Given the description of an element on the screen output the (x, y) to click on. 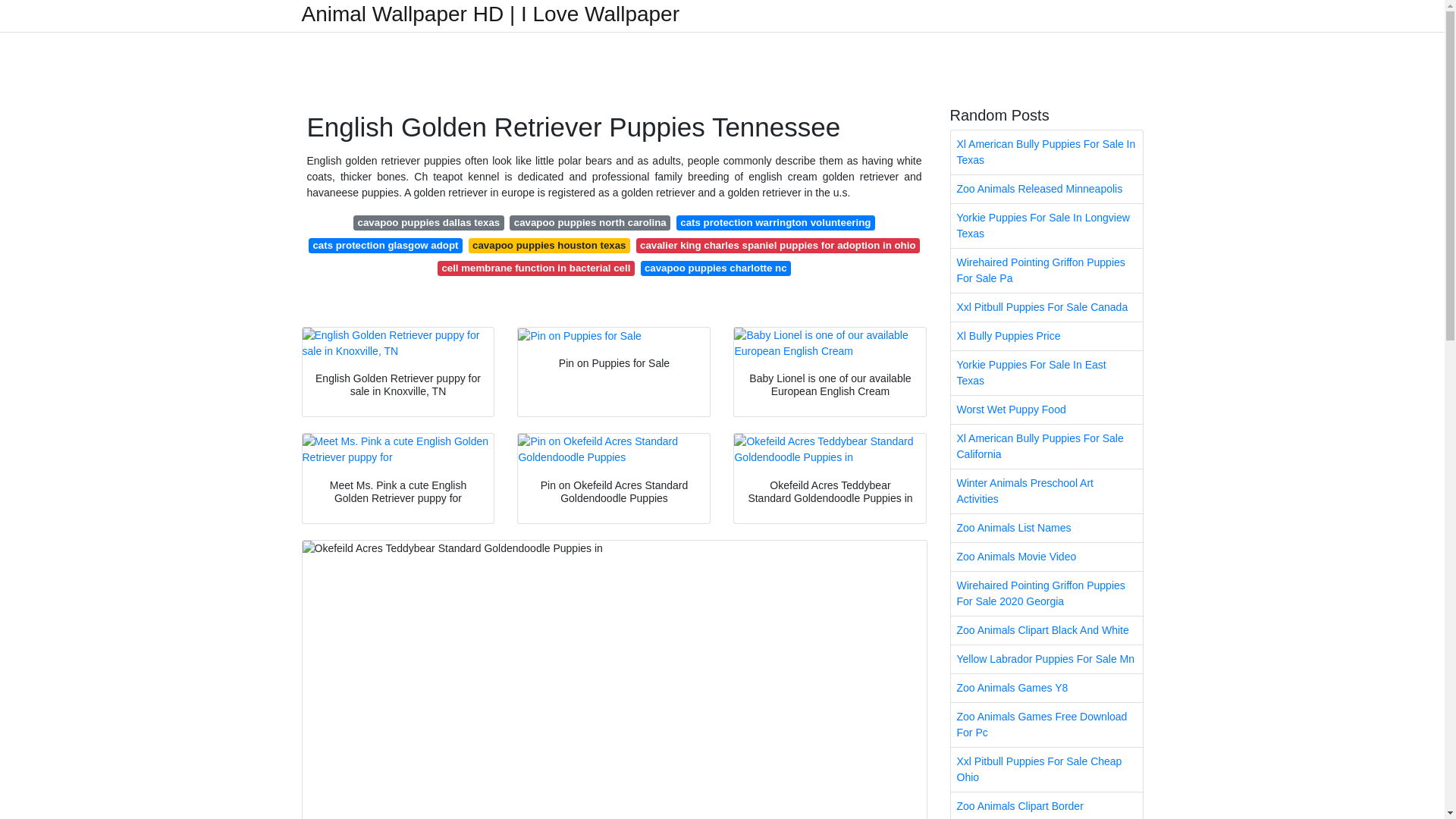
Yorkie Puppies For Sale In Longview Texas (1046, 225)
cavapoo puppies charlotte nc (715, 268)
Worst Wet Puppy Food (1046, 409)
cavapoo puppies north carolina (589, 222)
cavapoo puppies dallas texas (428, 222)
cell membrane function in bacterial cell (536, 268)
Zoo Animals Released Minneapolis (1046, 189)
Winter Animals Preschool Art Activities (1046, 491)
Yorkie Puppies For Sale In East Texas (1046, 372)
cats protection warrington volunteering (776, 222)
